Given the description of an element on the screen output the (x, y) to click on. 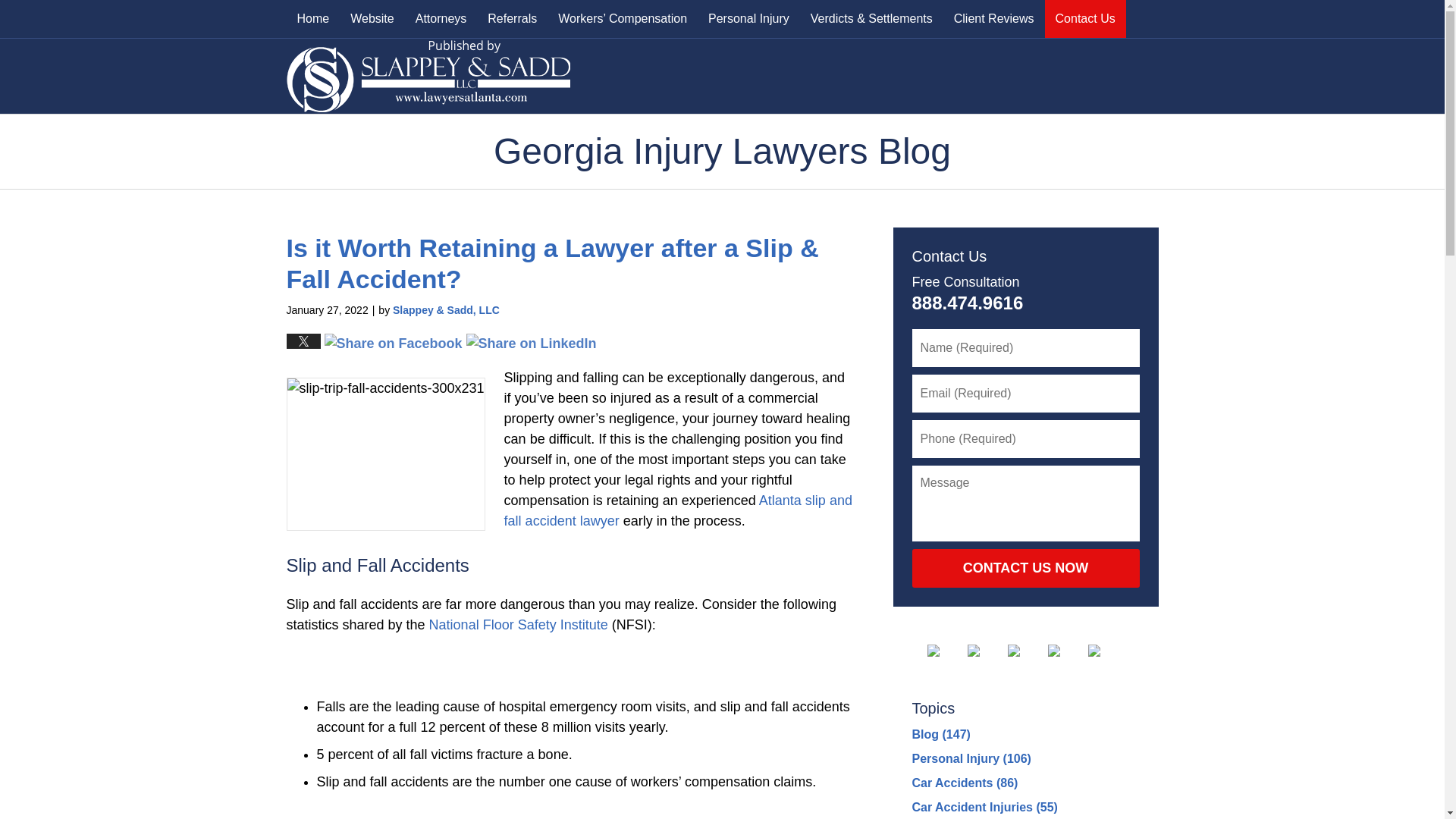
Please enter a valid phone number. (1024, 438)
Feed (1105, 650)
Client Reviews (994, 18)
Home (313, 18)
Referrals (512, 18)
Website (371, 18)
Facebook (944, 650)
Justia (1066, 650)
National Floor Safety Institute (518, 624)
CONTACT US NOW (1024, 568)
